Given the description of an element on the screen output the (x, y) to click on. 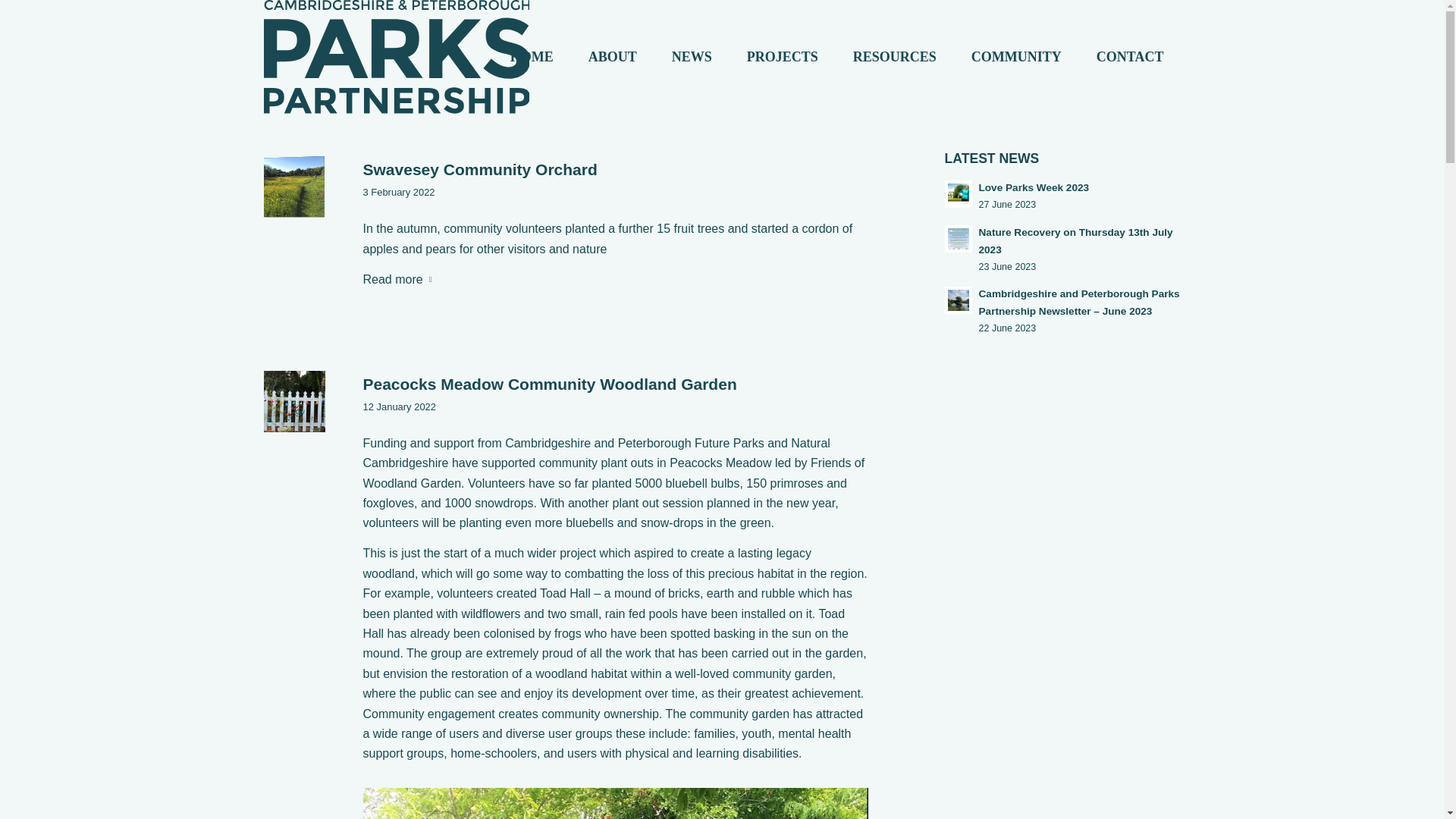
Swavesey Community Orchard (479, 169)
Permanent Link: Swavesey Community Orchard (1062, 195)
CONTACT (1062, 248)
RESOURCES (479, 169)
Peacocks Meadow (1129, 56)
COMMUNITY (894, 56)
Nature Recovery on Thursday 13th July 2023 (293, 401)
Peacocks Meadow Community Woodland Garden (1015, 56)
